Given the description of an element on the screen output the (x, y) to click on. 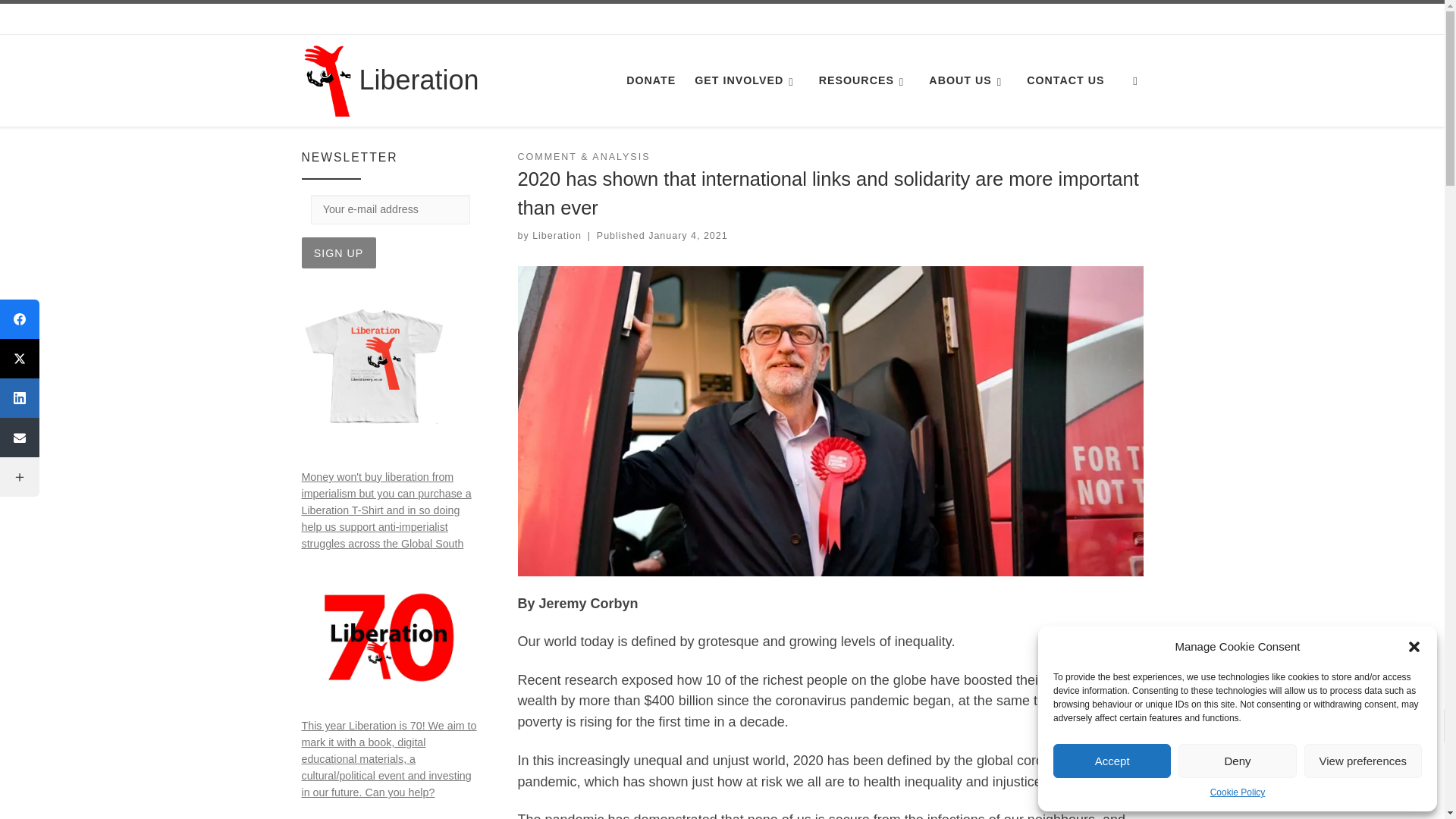
DONATE (651, 80)
Sign up (338, 252)
CONTACT US (1065, 80)
5:17 pm (687, 235)
Accept (1111, 760)
RESOURCES (863, 80)
Cookie Policy (1237, 792)
Skip to content (60, 20)
Liberation (418, 80)
View preferences (1363, 760)
